Given the description of an element on the screen output the (x, y) to click on. 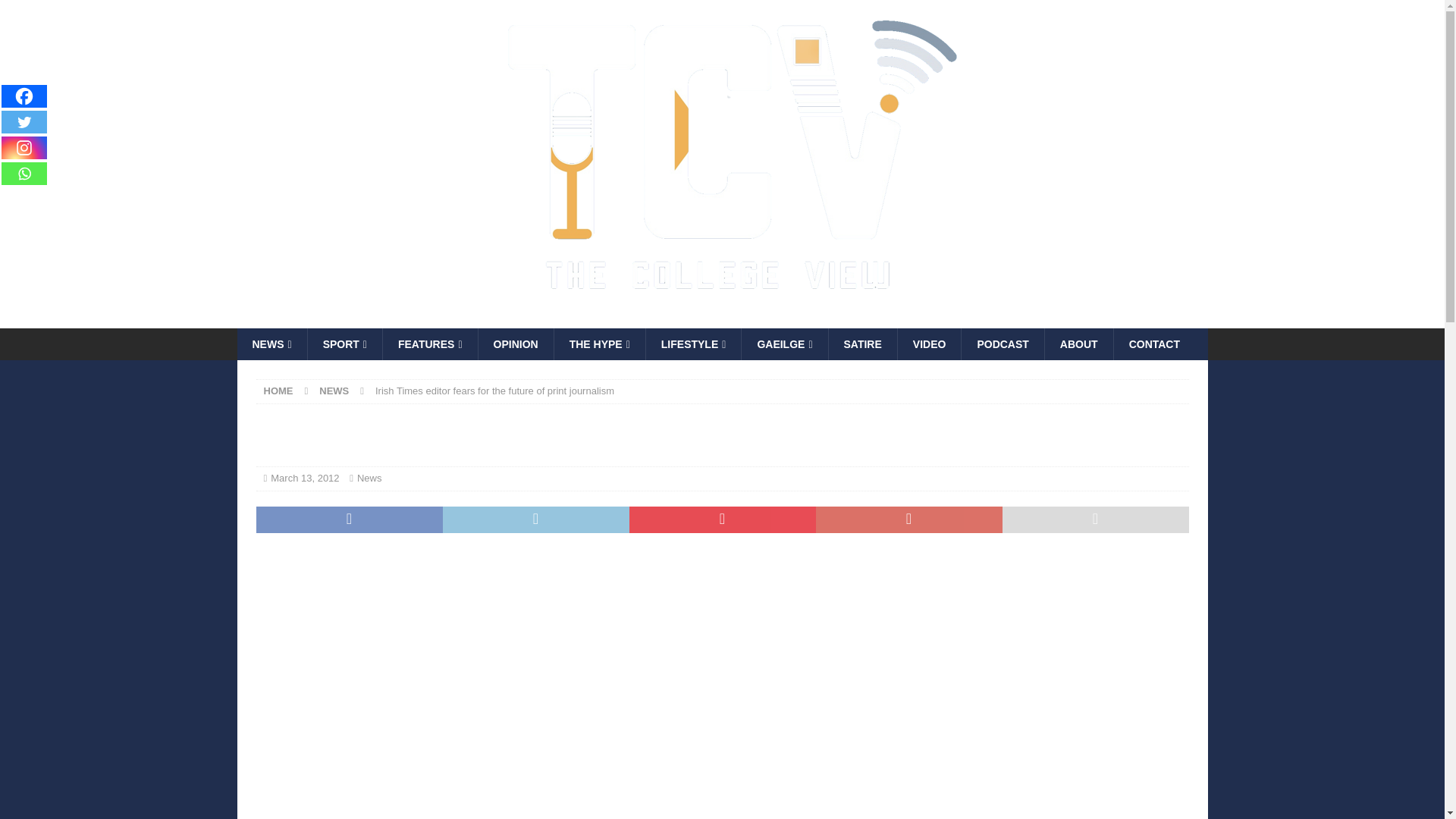
Twitter (23, 121)
SATIRE (862, 344)
SPORT (344, 344)
PODCAST (1001, 344)
Whatsapp (23, 173)
Instagram (23, 147)
LIFESTYLE (693, 344)
NEWS (270, 344)
VIDEO (928, 344)
March 13, 2012 (304, 478)
